Given the description of an element on the screen output the (x, y) to click on. 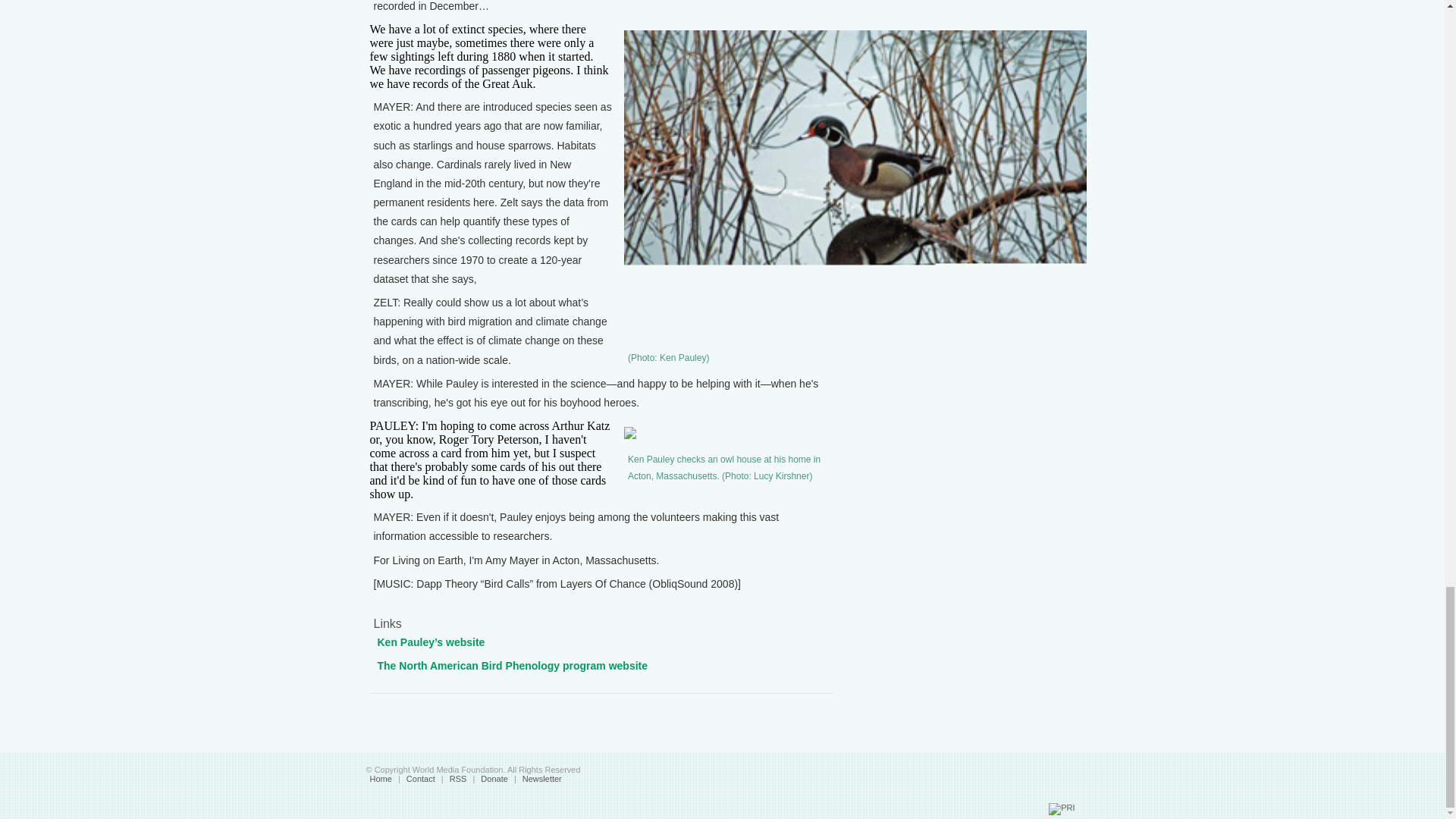
The North American Bird Phenology program website (512, 665)
